Given the description of an element on the screen output the (x, y) to click on. 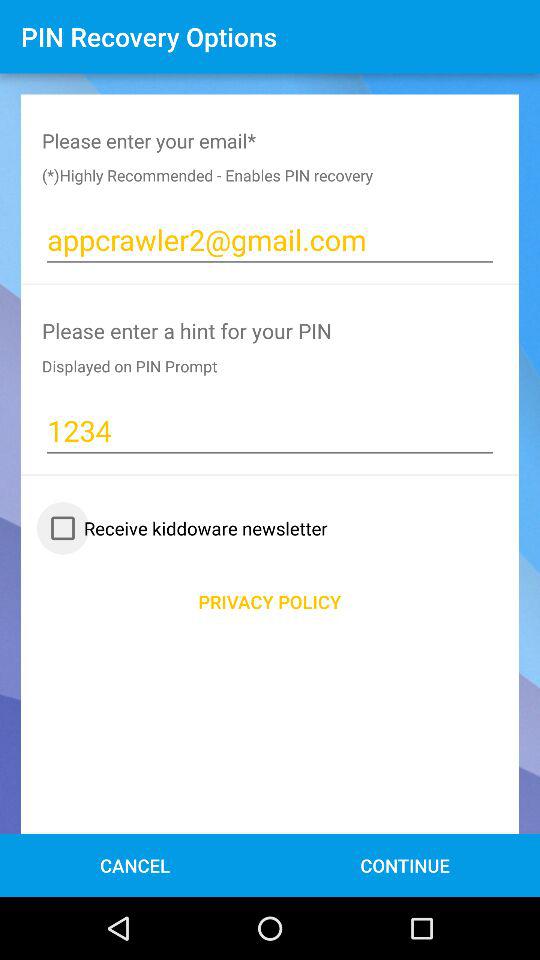
launch icon above privacy policy item (184, 528)
